Given the description of an element on the screen output the (x, y) to click on. 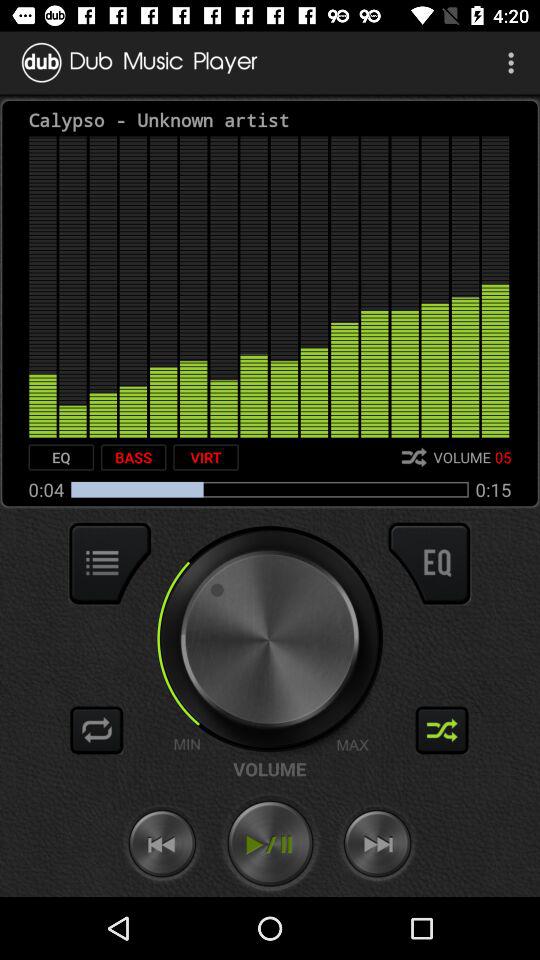
play forward (377, 844)
